Given the description of an element on the screen output the (x, y) to click on. 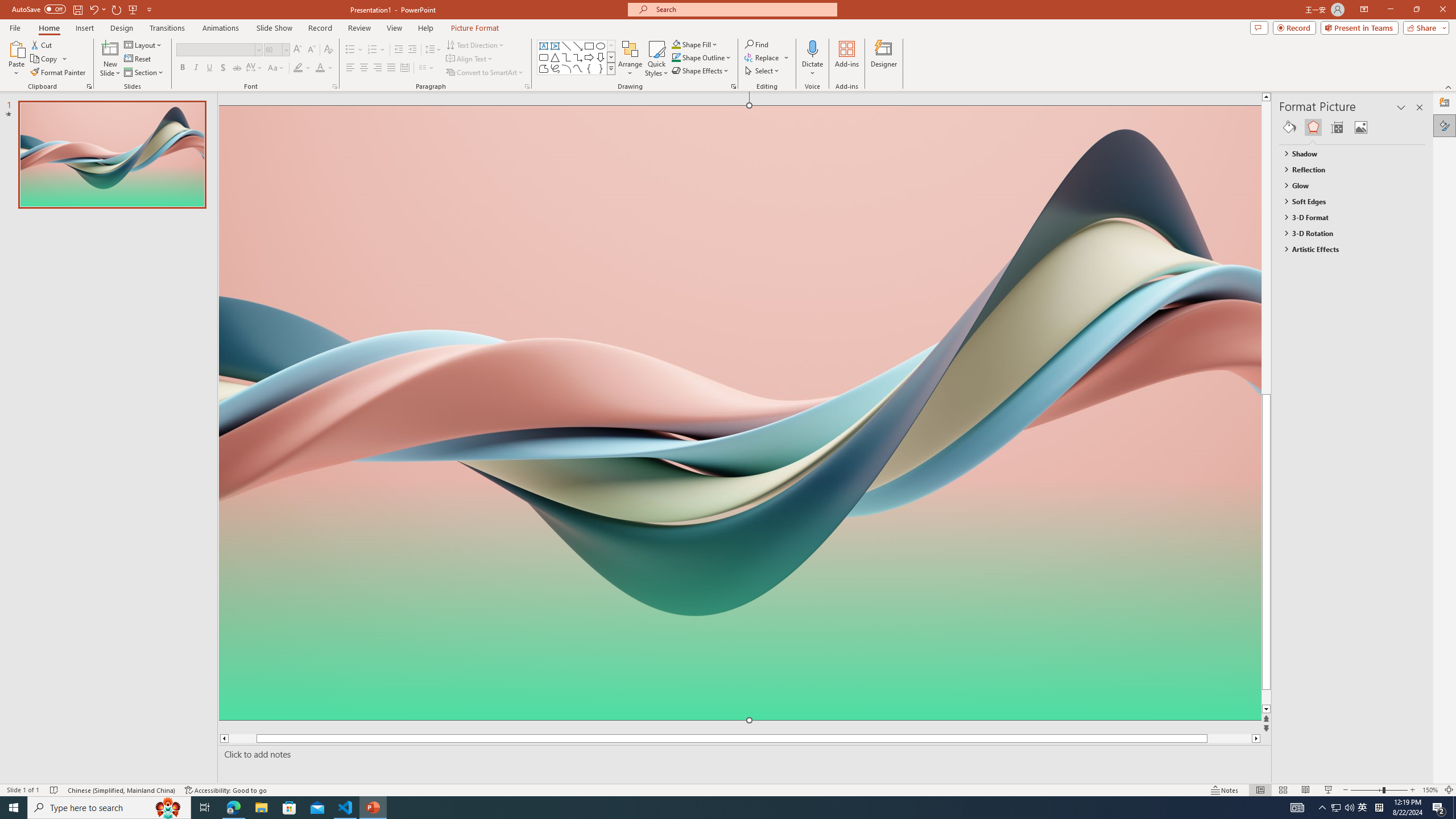
Size & Properties (1336, 126)
Wavy 3D art (739, 412)
Glow (1347, 185)
Class: NetUIGalleryContainer (1352, 126)
Soft Edges (1347, 201)
